Given the description of an element on the screen output the (x, y) to click on. 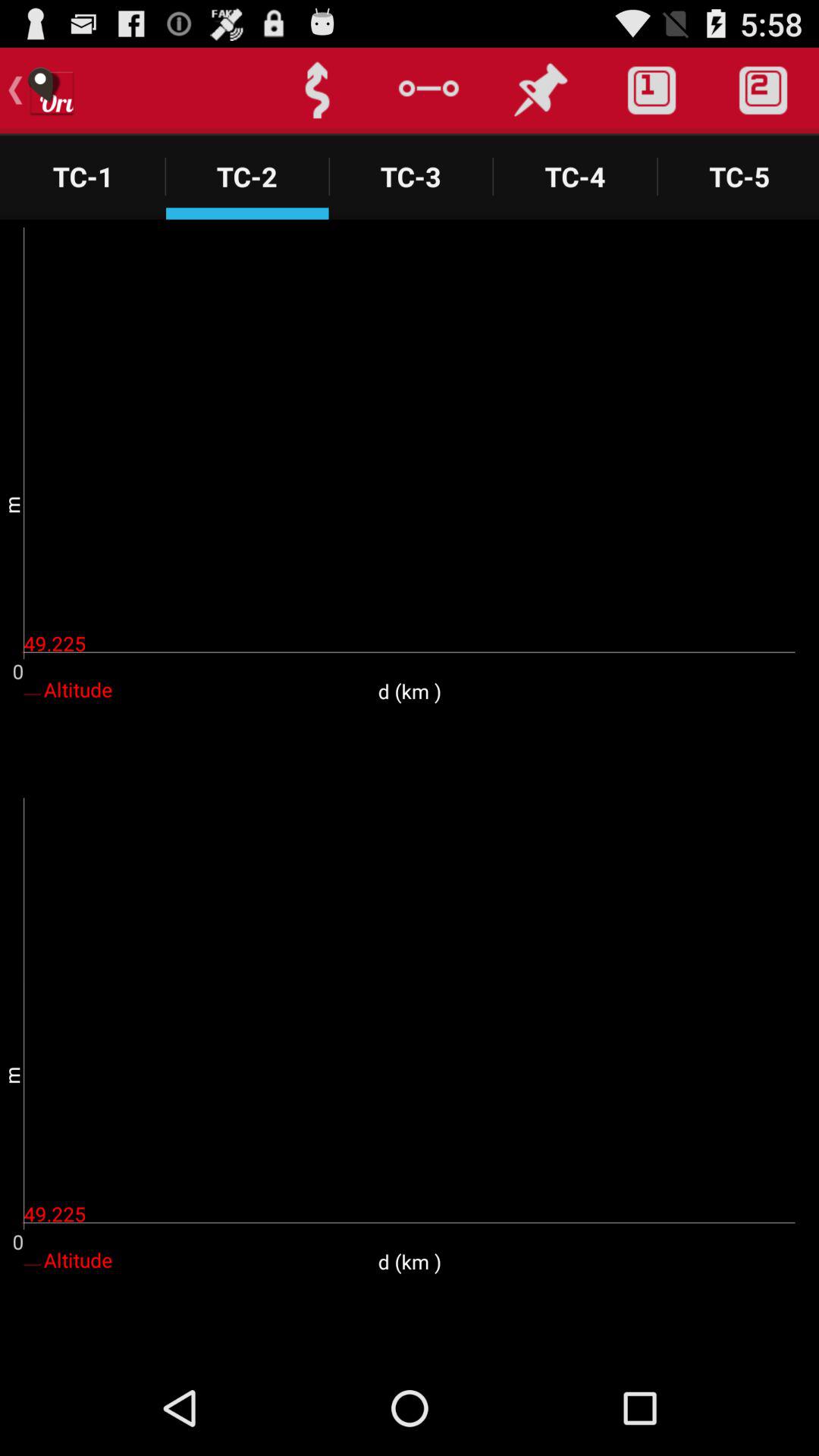
tap the app above tc-4 item (540, 90)
